Given the description of an element on the screen output the (x, y) to click on. 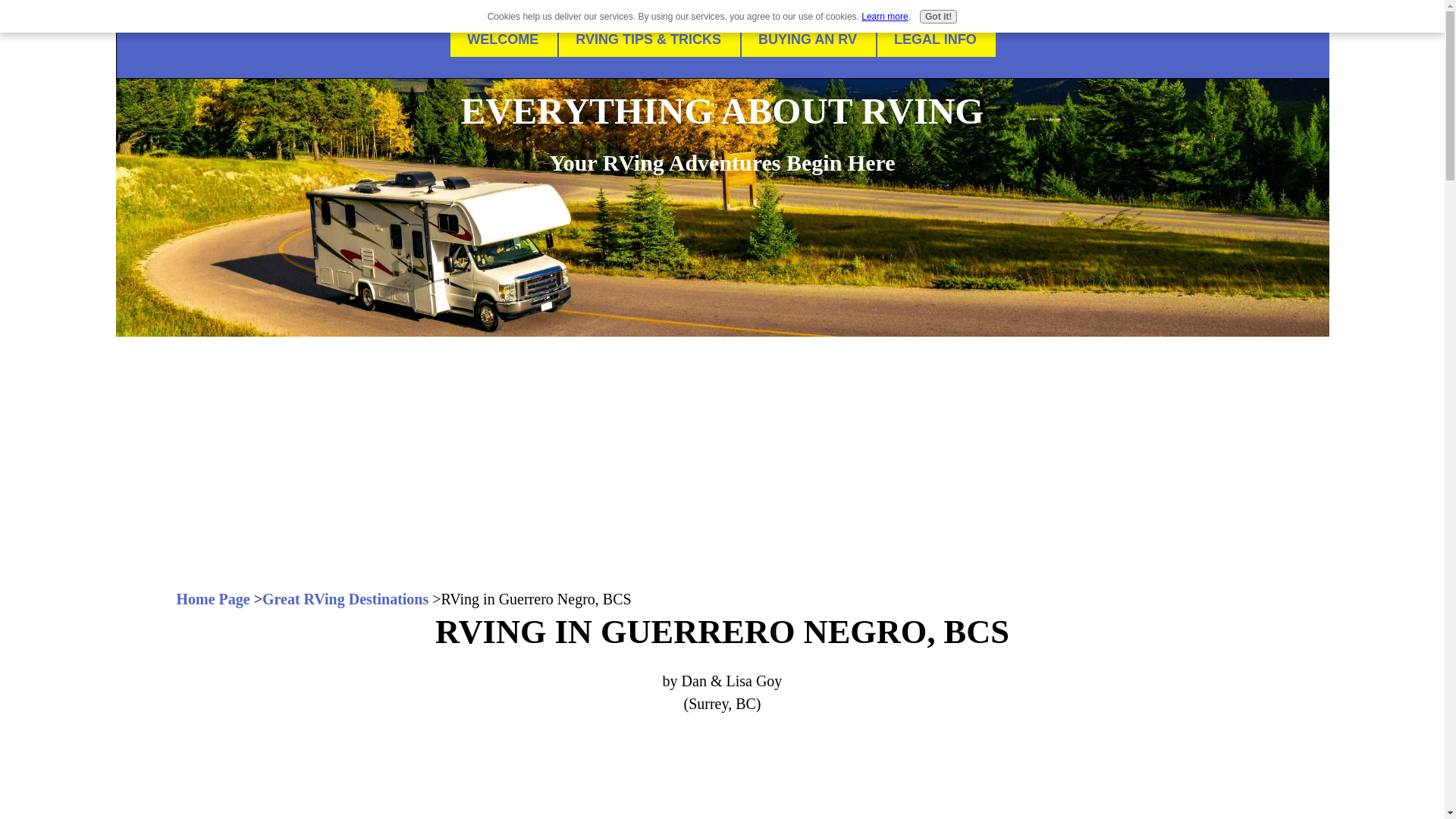
Pictured Above: Malarrimo Eco Tours (721, 778)
Home Page (212, 598)
Great RVing Destinations (345, 598)
EVERYTHING ABOUT RVING (722, 110)
